Given the description of an element on the screen output the (x, y) to click on. 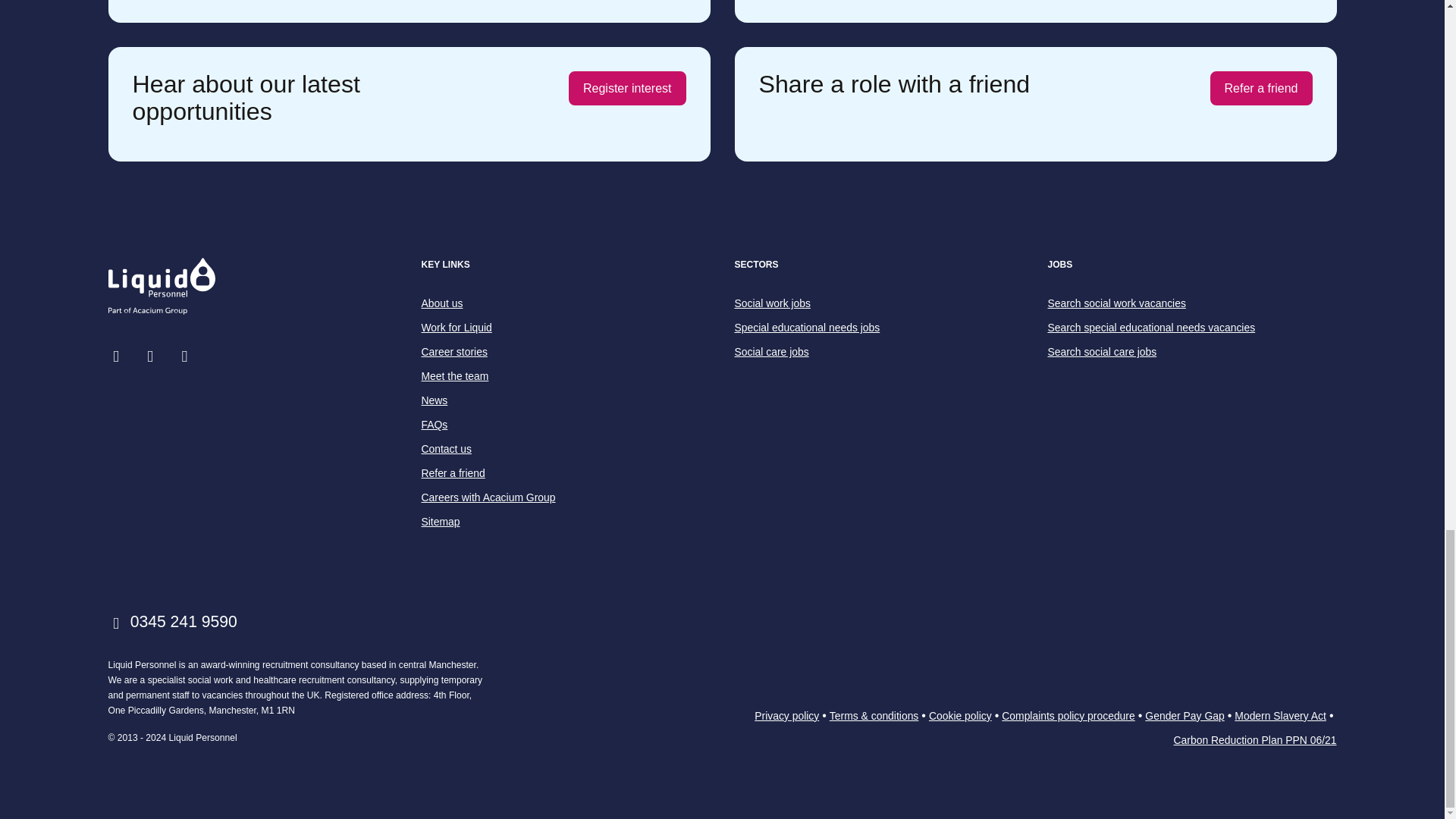
Instagram (150, 355)
Linkedin (184, 355)
Facebook (115, 355)
